Given the description of an element on the screen output the (x, y) to click on. 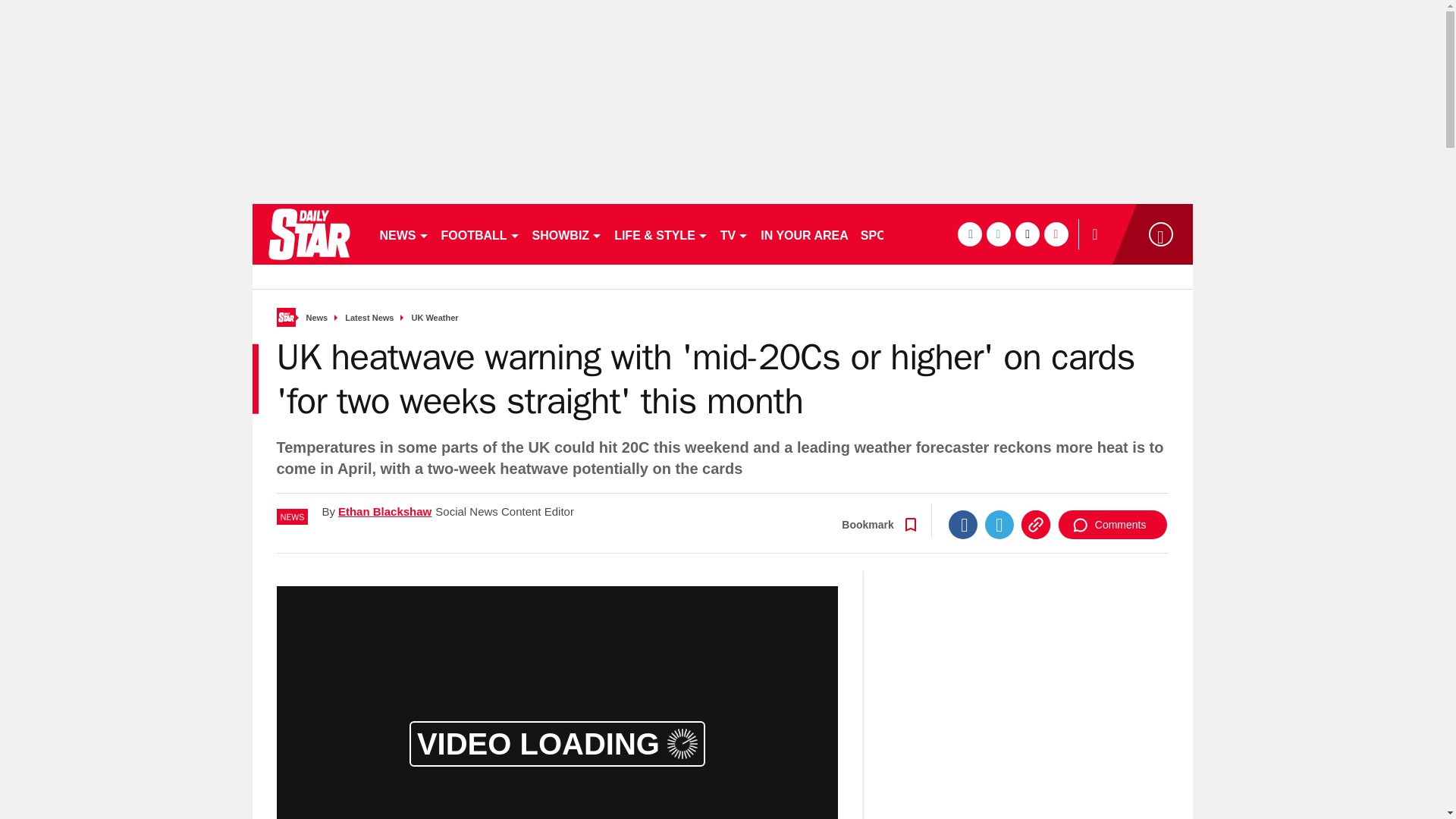
facebook (968, 233)
Facebook (962, 524)
tiktok (1026, 233)
twitter (997, 233)
SHOWBIZ (566, 233)
dailystar (308, 233)
Twitter (999, 524)
Comments (1112, 524)
instagram (1055, 233)
NEWS (402, 233)
